Given the description of an element on the screen output the (x, y) to click on. 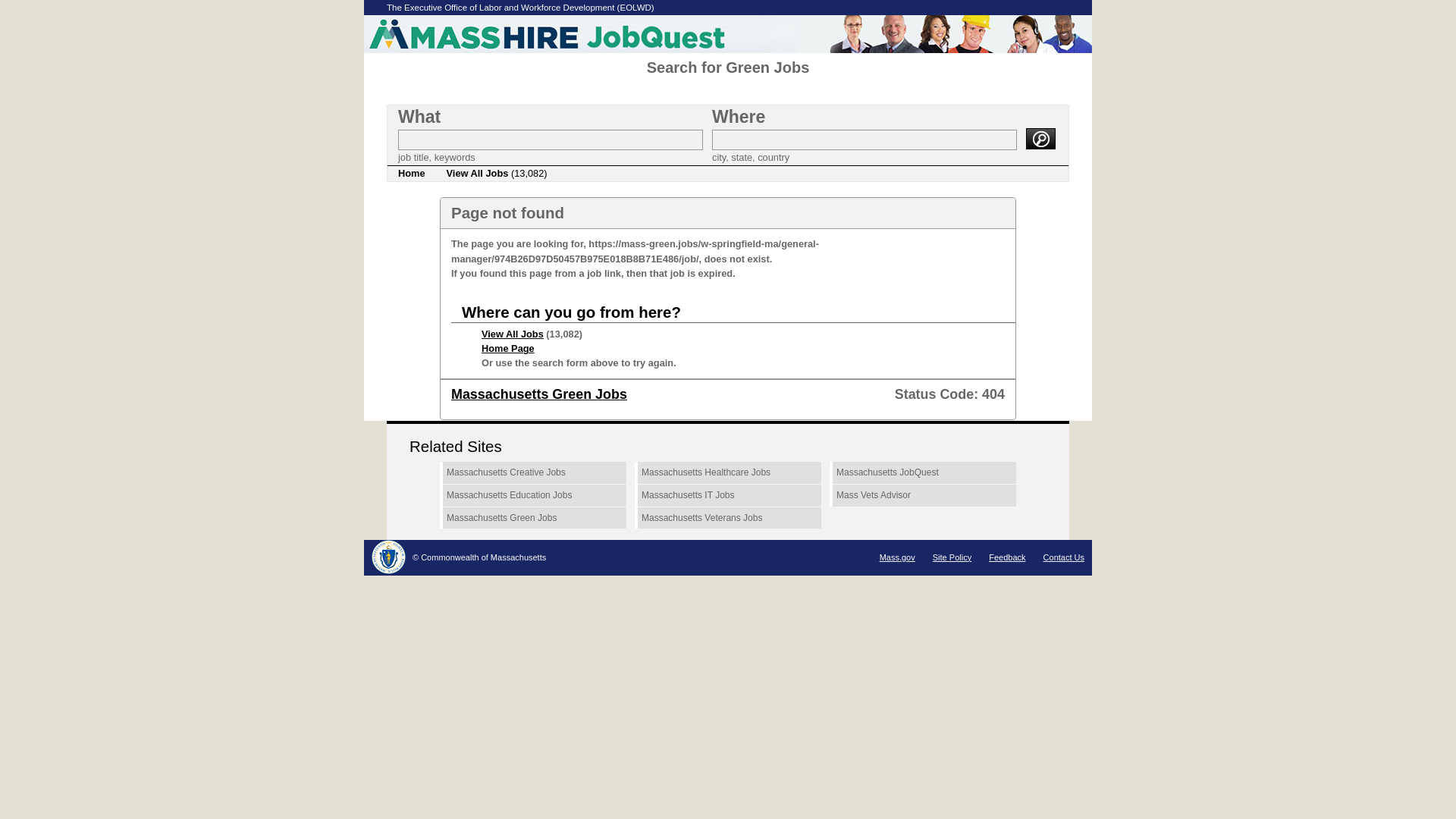
Massachusetts Education Jobs (532, 495)
Massachusetts Veterans Jobs (727, 517)
Mass.gov (897, 556)
Massachusetts JobQuest (922, 472)
Search Phrase (550, 139)
View All Jobs (512, 333)
Home Page (507, 348)
search (1040, 138)
Home (411, 173)
